Given the description of an element on the screen output the (x, y) to click on. 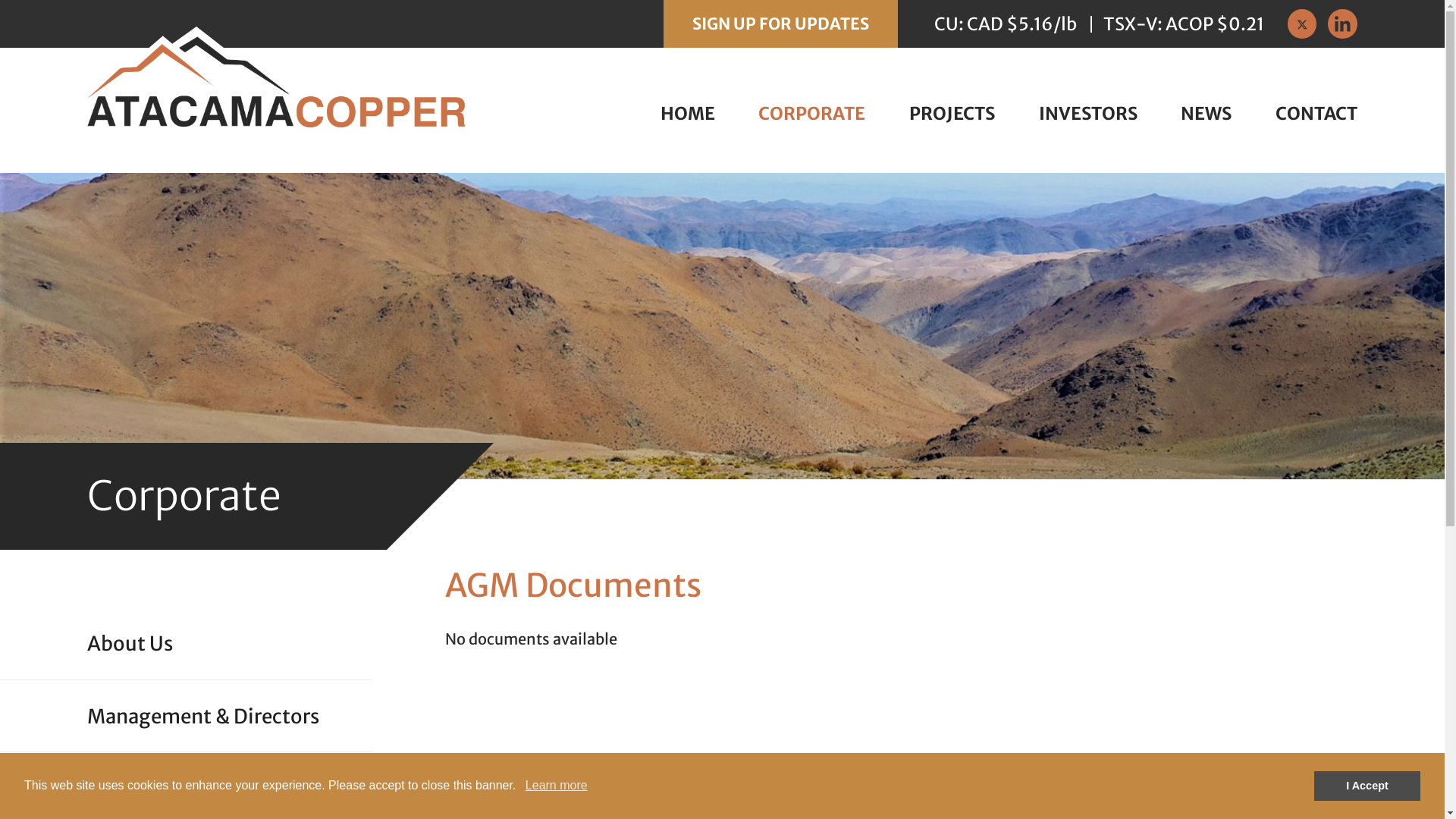
SIGN UP FOR UPDATES Element type: text (780, 23)
CONTACT Element type: text (1316, 113)
HOME Element type: text (687, 113)
Management & Directors Element type: text (229, 716)
INVESTORS Element type: text (1087, 113)
PROJECTS Element type: text (951, 113)
I Accept Element type: text (1367, 785)
About Us Element type: text (229, 644)
Learn more Element type: text (556, 785)
CORPORATE Element type: text (811, 113)
NEWS Element type: text (1205, 113)
